Given the description of an element on the screen output the (x, y) to click on. 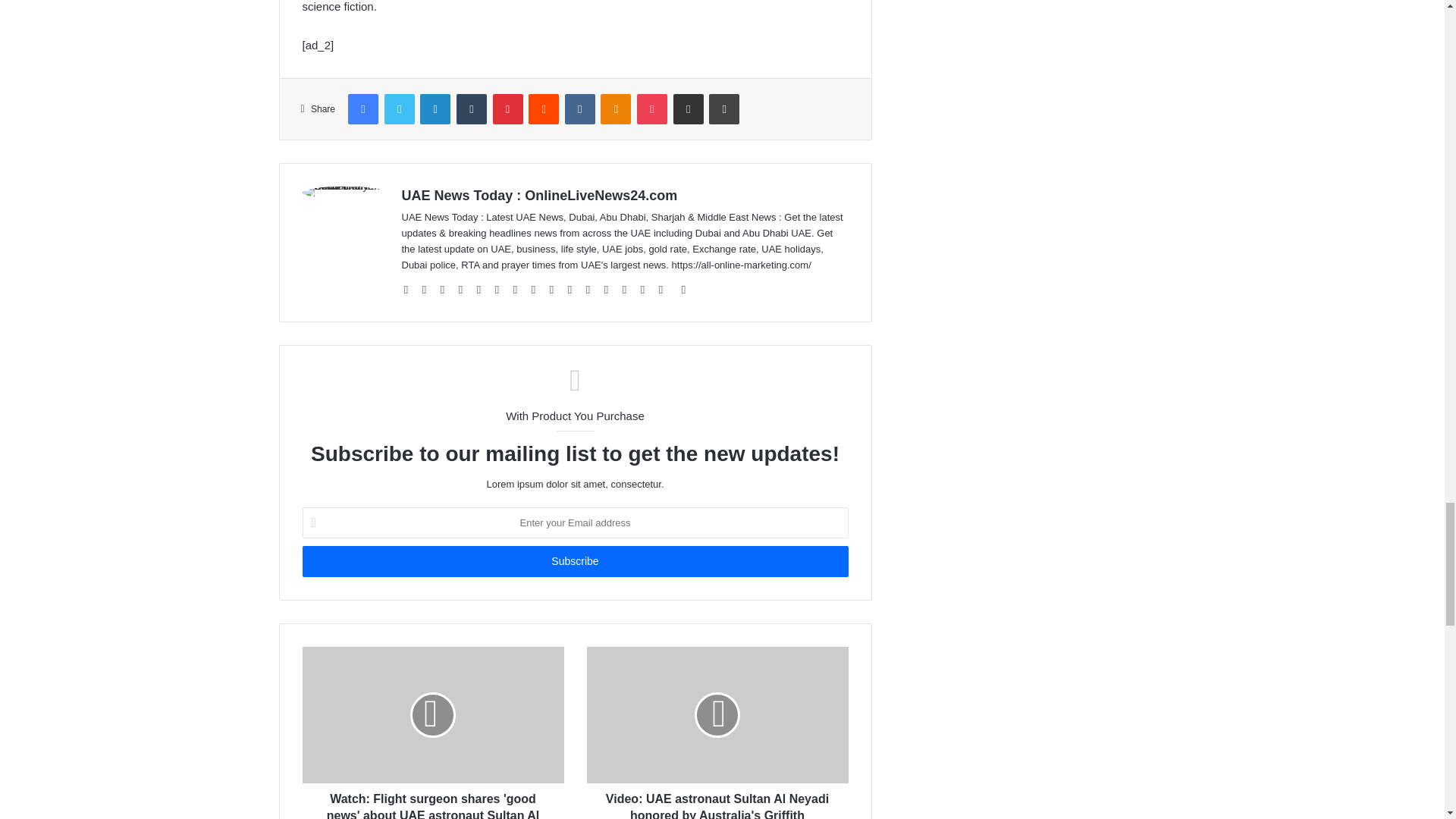
Subscribe (574, 561)
